Given the description of an element on the screen output the (x, y) to click on. 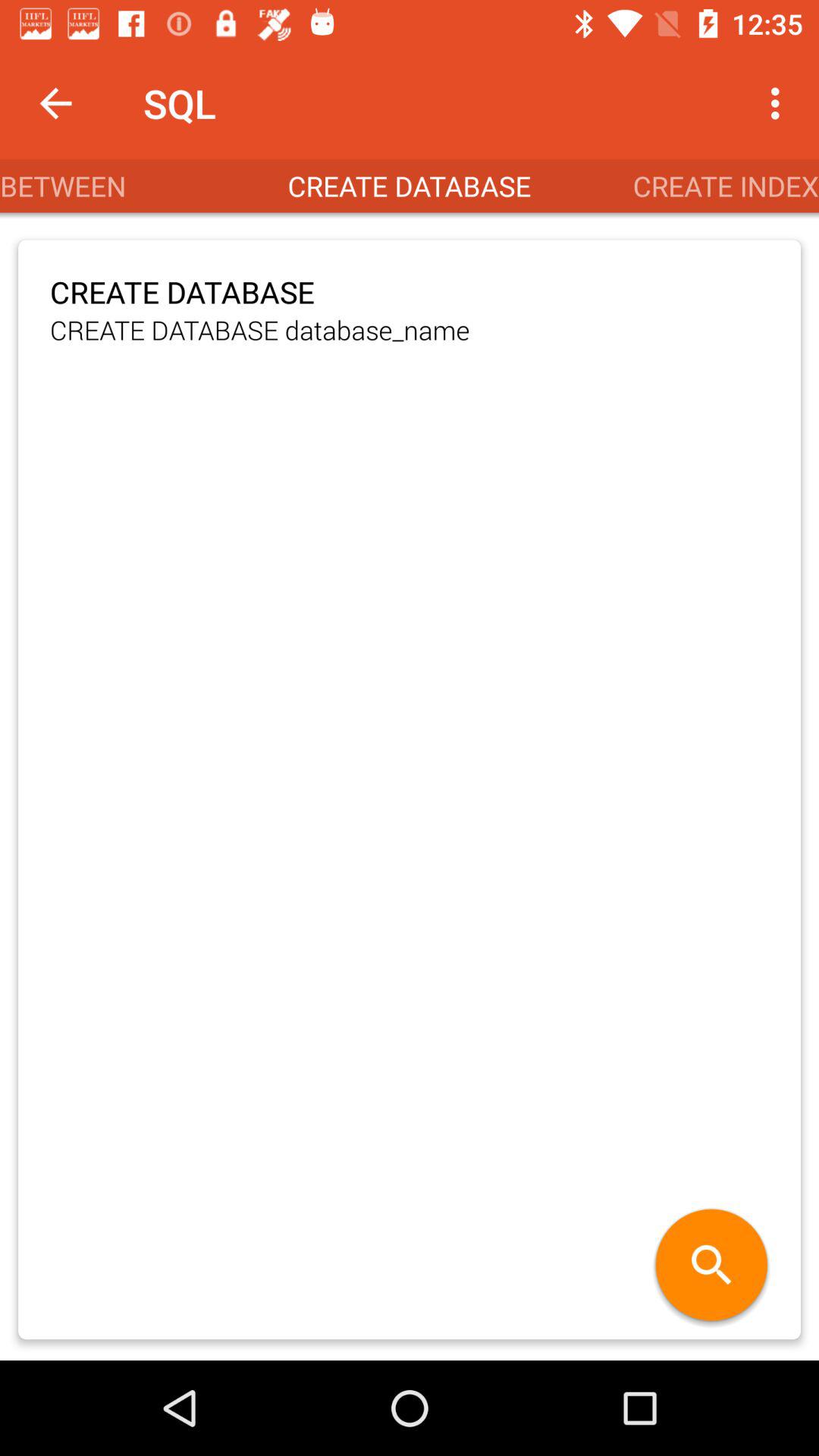
turn on app next to sql (779, 103)
